Given the description of an element on the screen output the (x, y) to click on. 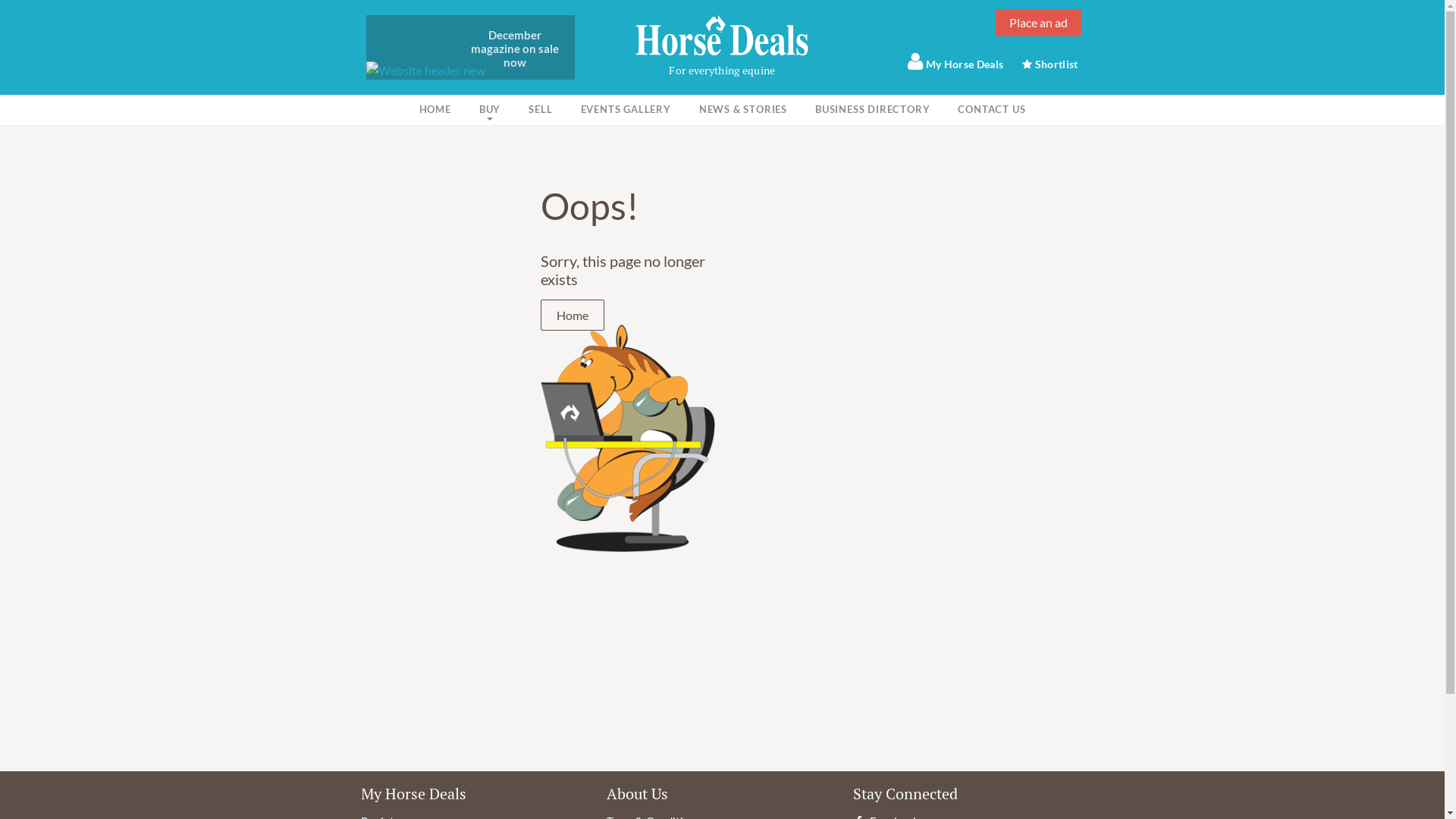
Place an ad Element type: text (1038, 22)
CONTACT US Element type: text (991, 110)
BUSINESS DIRECTORY Element type: text (872, 110)
Shortlist Element type: text (1049, 63)
NEWS & STORIES Element type: text (742, 110)
December magazine on sale now Element type: text (469, 47)
SELL Element type: text (540, 110)
My Horse Deals Element type: text (955, 61)
Horse Deals Element type: text (721, 35)
BUY Element type: text (489, 110)
HOME Element type: text (434, 110)
Home Element type: text (571, 314)
EVENTS GALLERY Element type: text (624, 110)
